Given the description of an element on the screen output the (x, y) to click on. 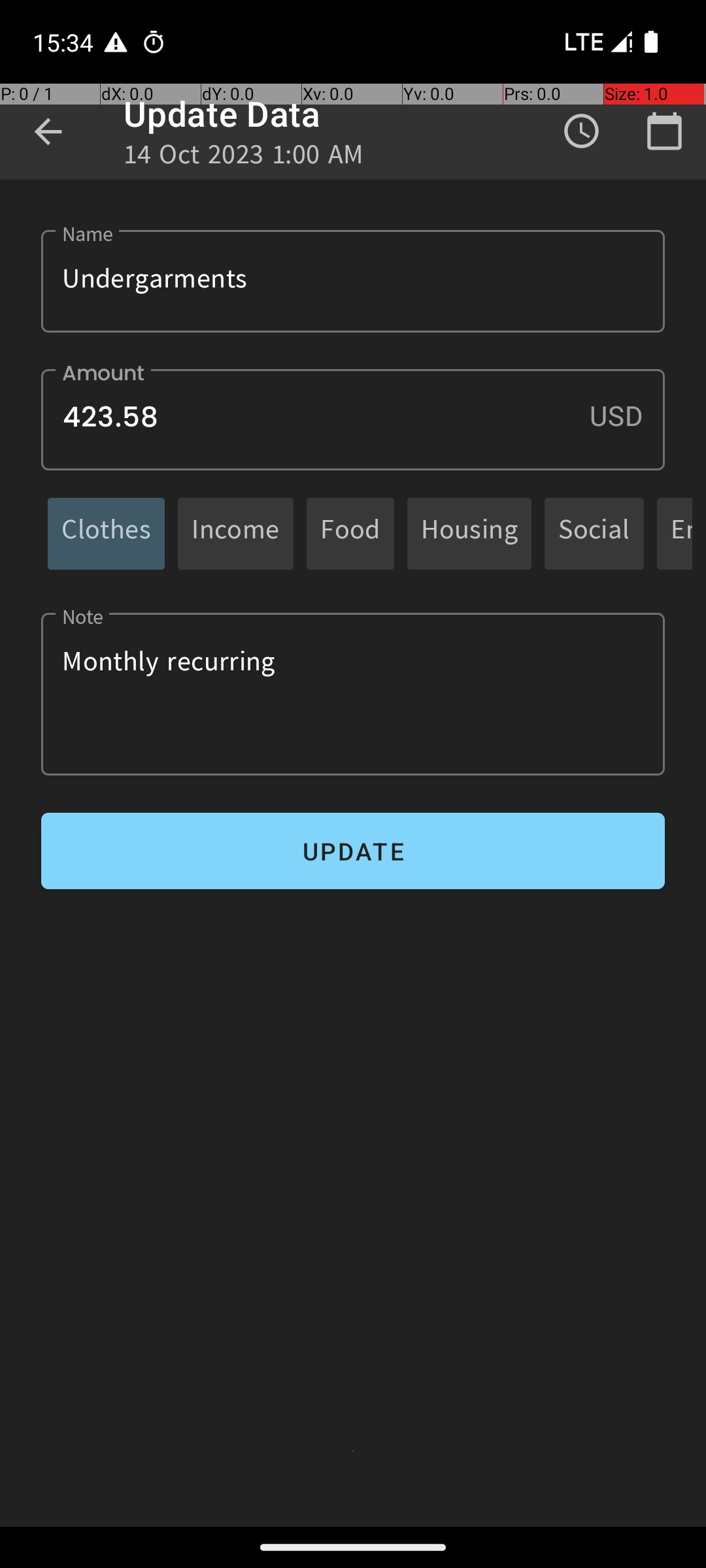
14 Oct 2023 1:00 AM Element type: android.widget.TextView (243, 157)
Undergarments Element type: android.widget.EditText (352, 280)
423.58 Element type: android.widget.EditText (352, 419)
Monthly recurring Element type: android.widget.EditText (352, 693)
Clothes Element type: android.widget.TextView (106, 533)
